Given the description of an element on the screen output the (x, y) to click on. 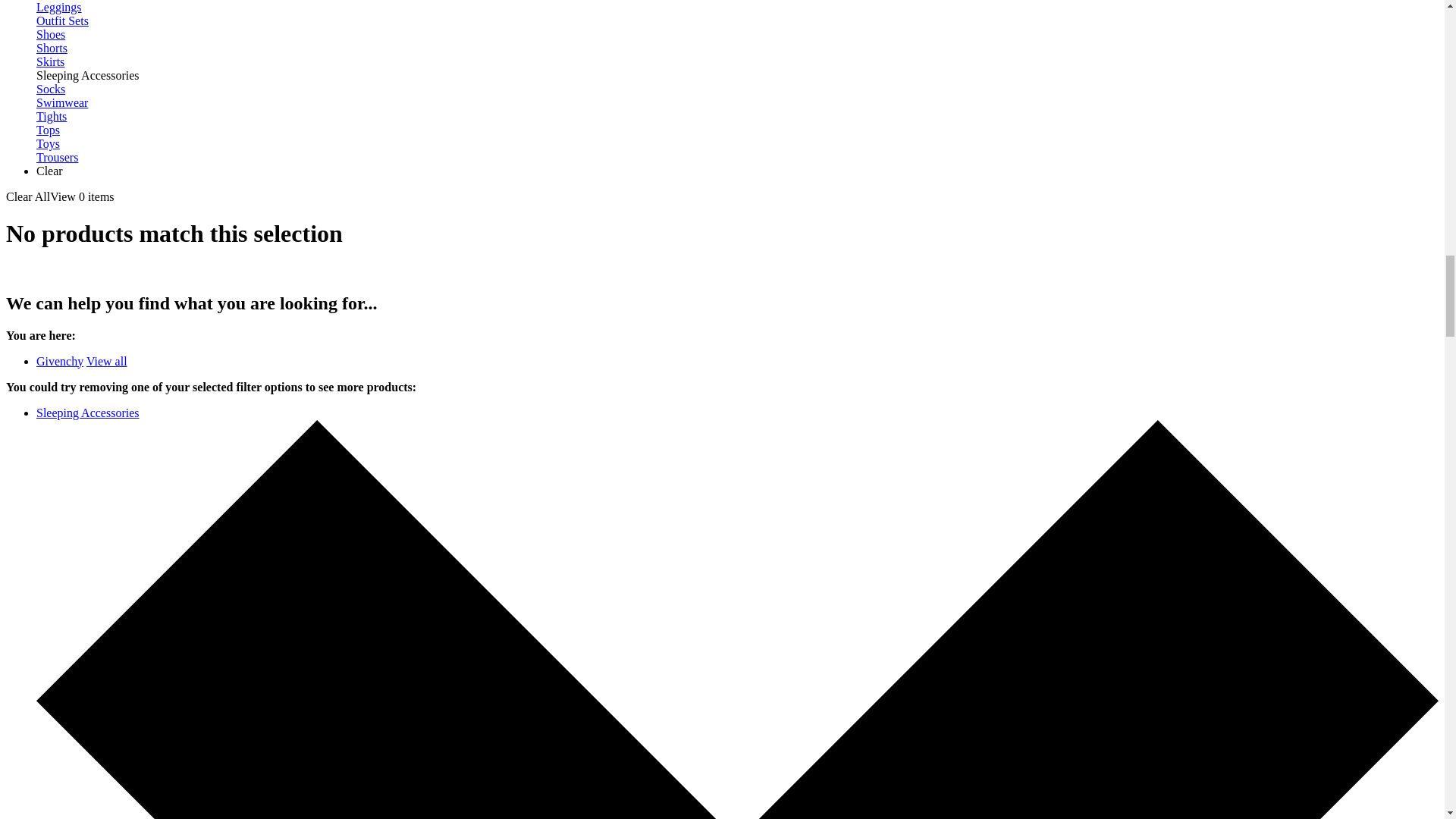
Leggings (58, 6)
Outfit Sets (62, 20)
Shoes (50, 33)
